Given the description of an element on the screen output the (x, y) to click on. 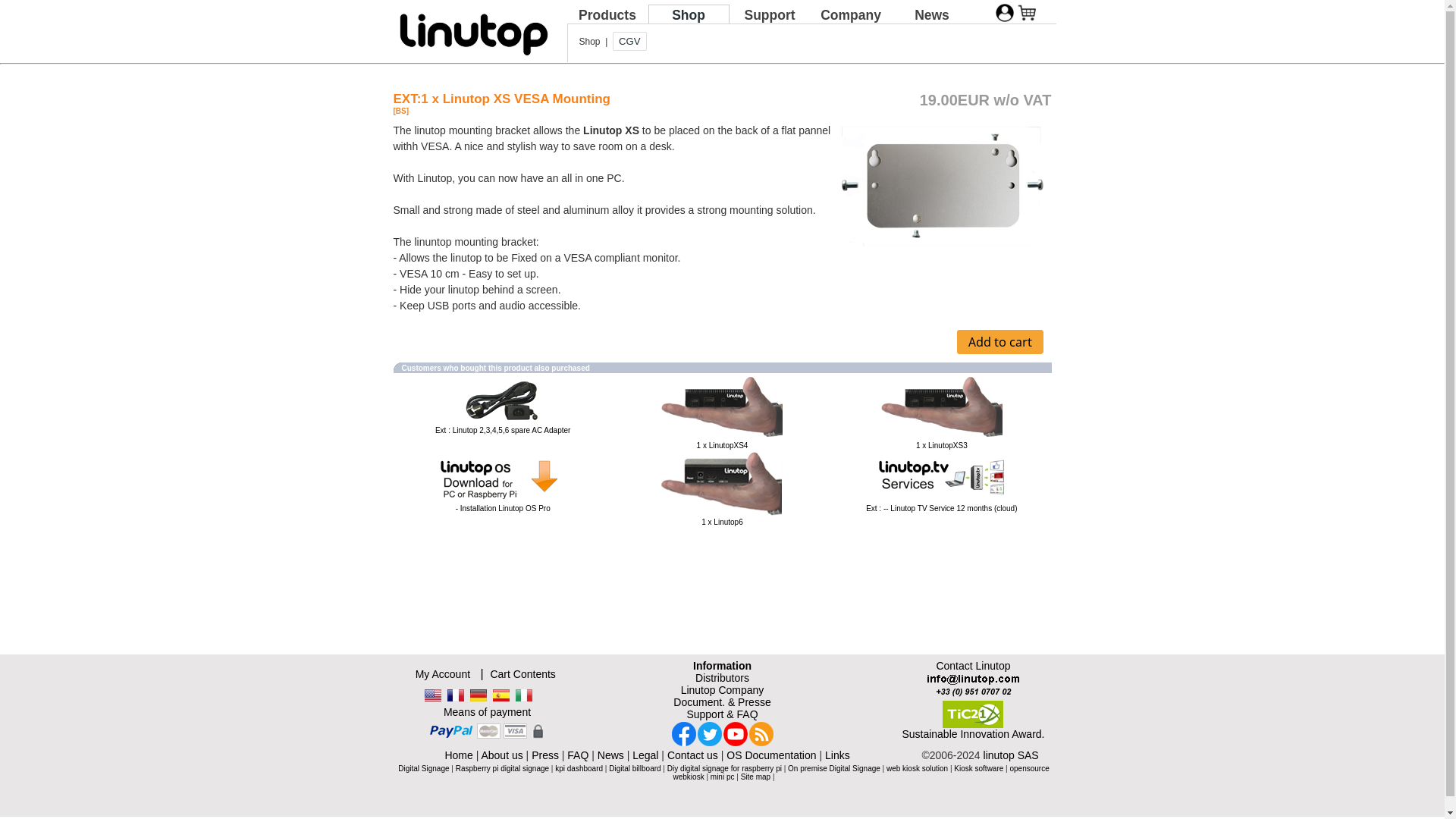
 Add to Cart  (999, 341)
My Account (442, 674)
 - Installation Linutop OS Pro  (502, 476)
CGV (629, 40)
Cart Contents (521, 674)
Products (606, 13)
1 x LinutopXS3 (941, 445)
 1 x Linutop6  (722, 483)
 1 x LinutopXS4  (722, 407)
Company (850, 13)
user login (1003, 13)
Linutop Company (722, 689)
Distributors (722, 677)
Support (769, 13)
